Given the description of an element on the screen output the (x, y) to click on. 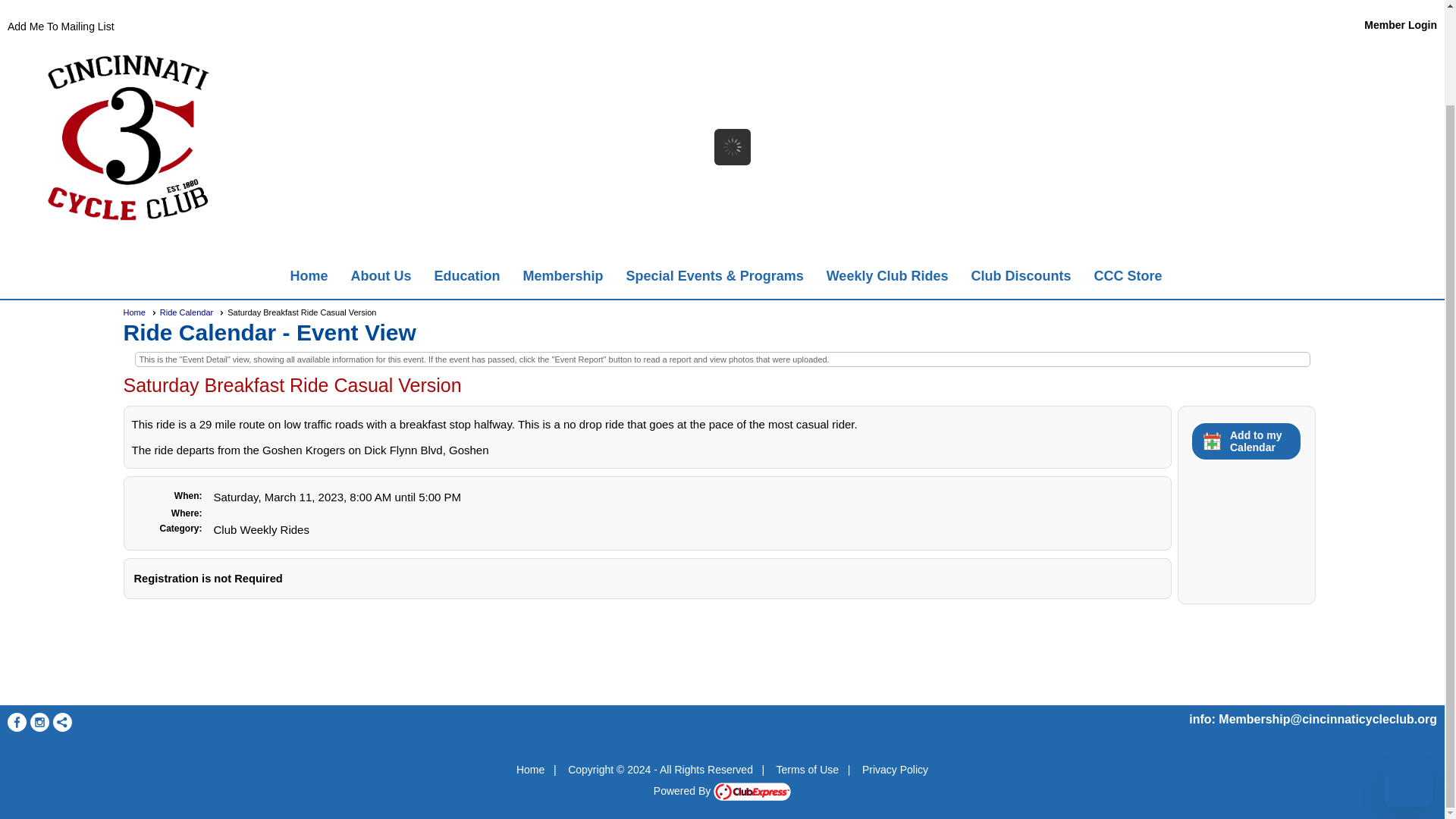
Home (309, 276)
vCalendar (1246, 441)
Club Discounts (1020, 276)
Add Me To Mailing List (61, 26)
Member Login (1400, 24)
Menu (722, 276)
User Panel (1083, 24)
Visit us on Facebook (16, 722)
Click here for more sharing options (61, 722)
Visit us on Instagram (39, 722)
